Given the description of an element on the screen output the (x, y) to click on. 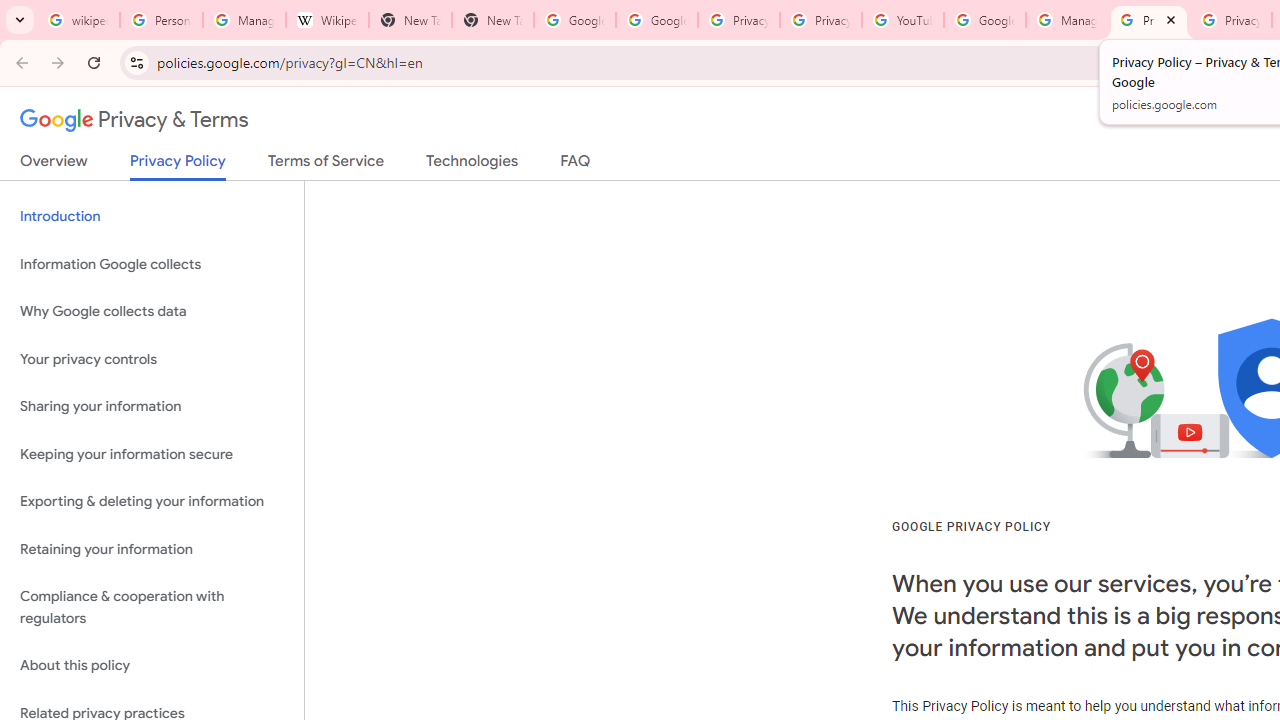
Google Drive: Sign-in (656, 20)
Google Account Help (984, 20)
Personalization & Google Search results - Google Search Help (161, 20)
